Given the description of an element on the screen output the (x, y) to click on. 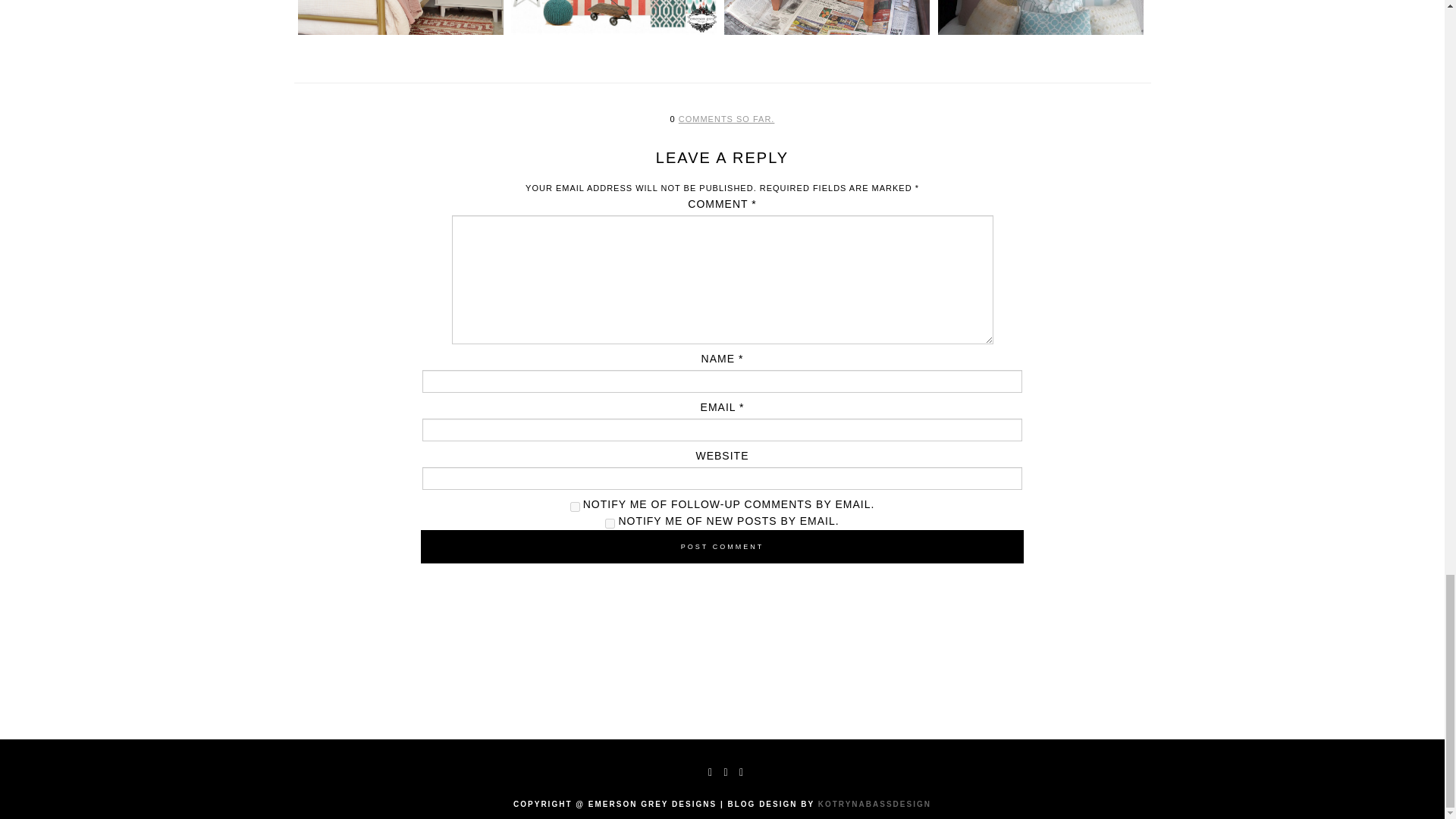
COMMENTS SO FAR. (726, 118)
subscribe (574, 506)
Post Comment (722, 546)
KOTRYNABASSDESIGN (874, 804)
subscribe (609, 523)
Post Comment (722, 546)
